Given the description of an element on the screen output the (x, y) to click on. 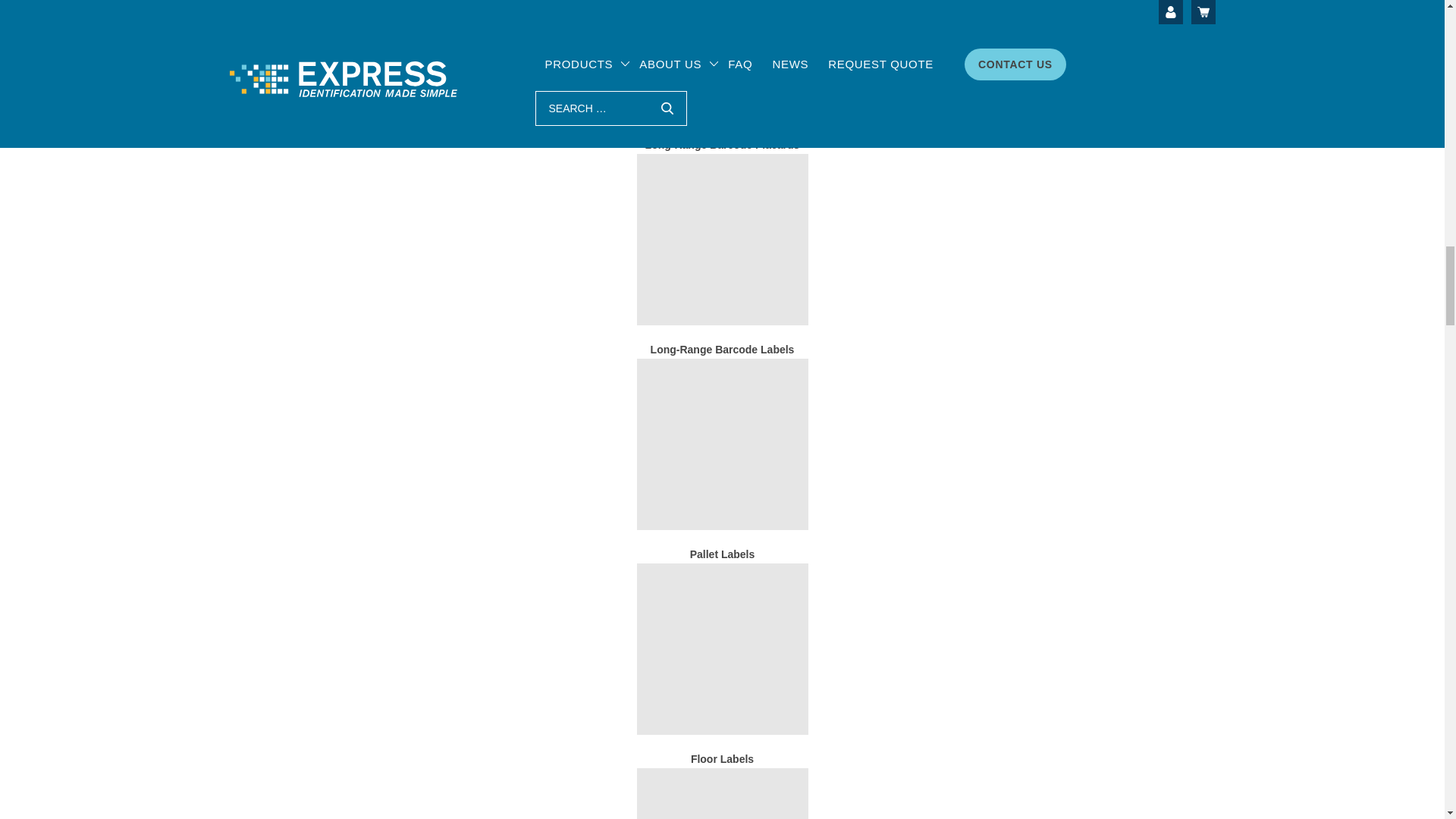
Long-Range Barcode Labels (721, 239)
Long-Range Barcode Placards (721, 42)
Long-Range Barcode Labels (722, 349)
Pallet Labels (721, 443)
Pallet Labels (722, 553)
Long-Range Barcode Placards (722, 144)
Floor Labels (721, 648)
